Given the description of an element on the screen output the (x, y) to click on. 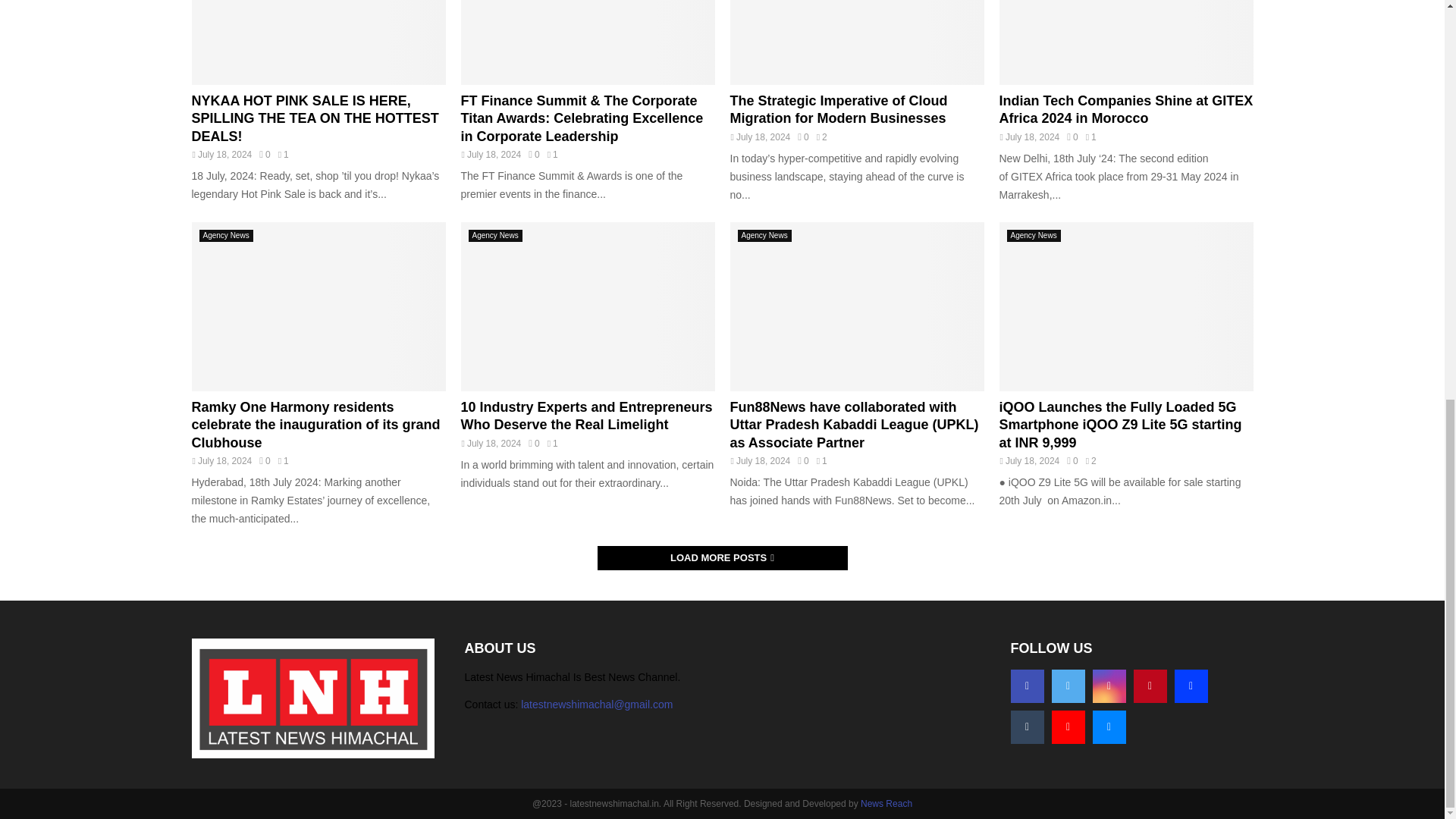
0 (533, 154)
Indian Tech Companies Shine at GITEX Africa 2024 in Morocco (1125, 109)
0 (264, 154)
0 (802, 136)
0 (1072, 136)
